Given the description of an element on the screen output the (x, y) to click on. 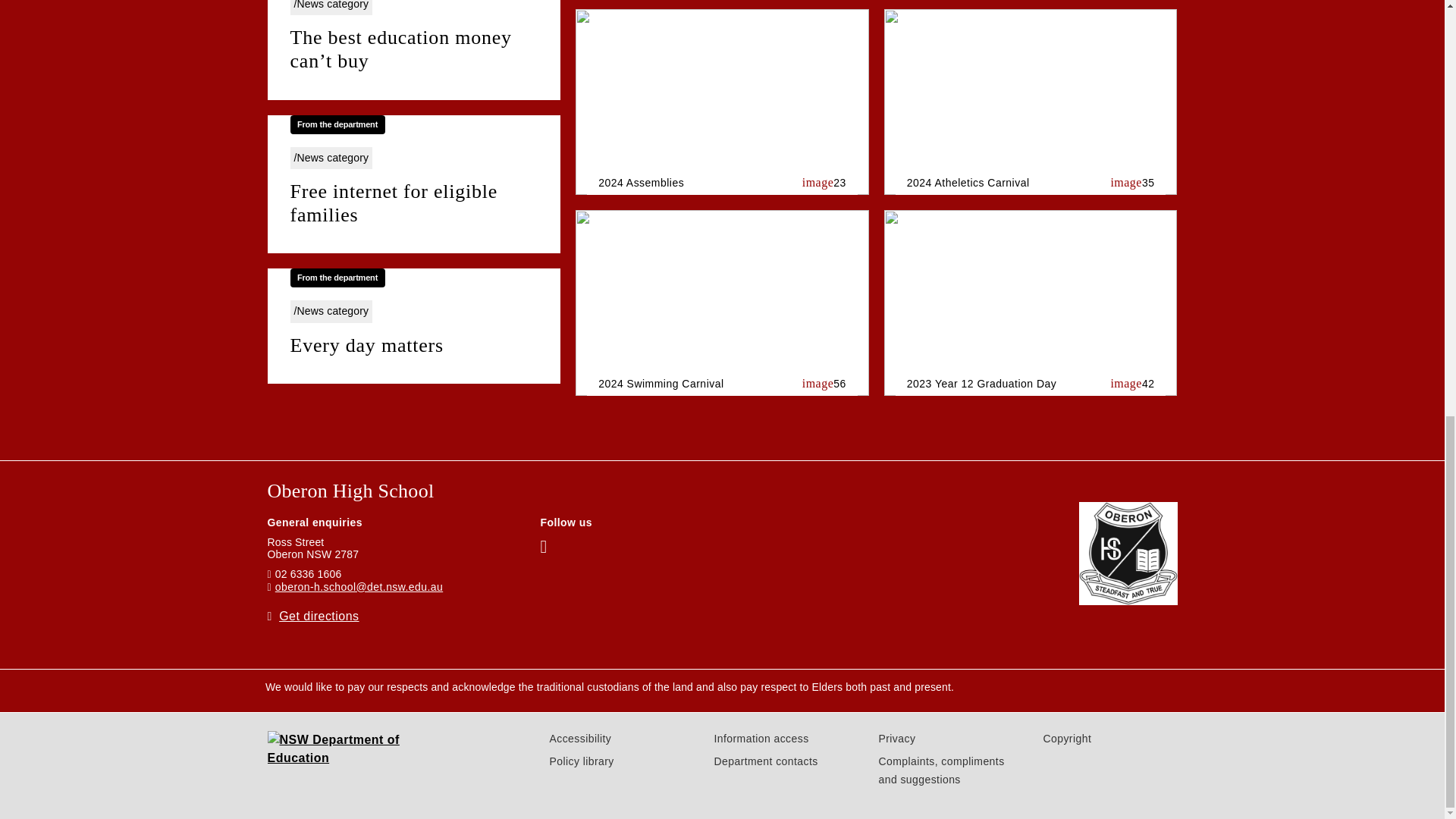
Free internet for eligible families (413, 203)
Every day matters  (413, 345)
